Given the description of an element on the screen output the (x, y) to click on. 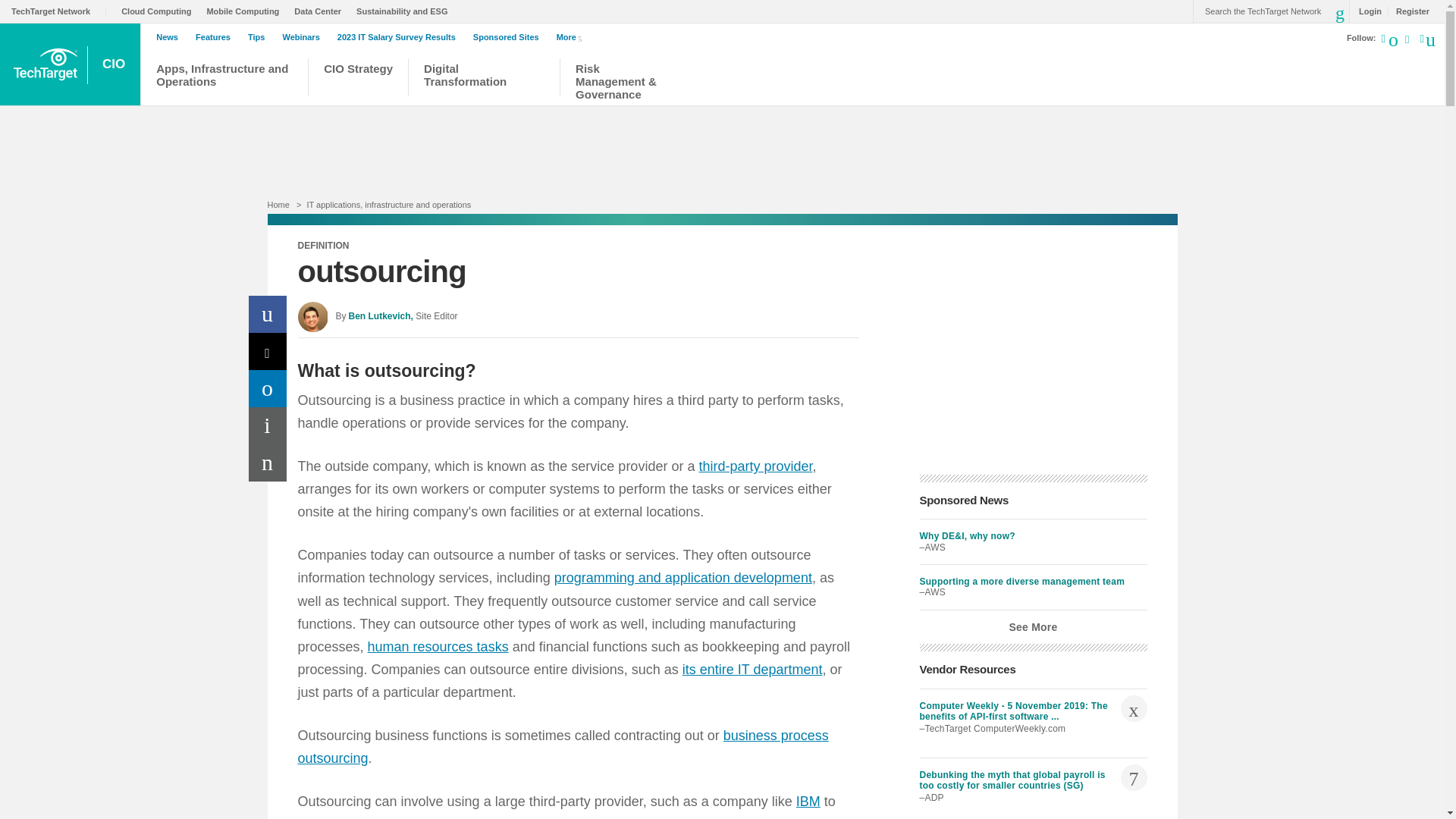
TechTarget Network (58, 10)
Sponsored Sites (510, 36)
Home (277, 204)
Share on LinkedIn (267, 388)
Print This Page (267, 425)
Features (216, 36)
Tips (259, 36)
Cloud Computing (159, 10)
Share on X (267, 351)
Email a Friend (267, 462)
Apps, Infrastructure and Operations (223, 79)
More (572, 36)
Sustainability and ESG (405, 10)
Mobile Computing (246, 10)
Register (1408, 10)
